Given the description of an element on the screen output the (x, y) to click on. 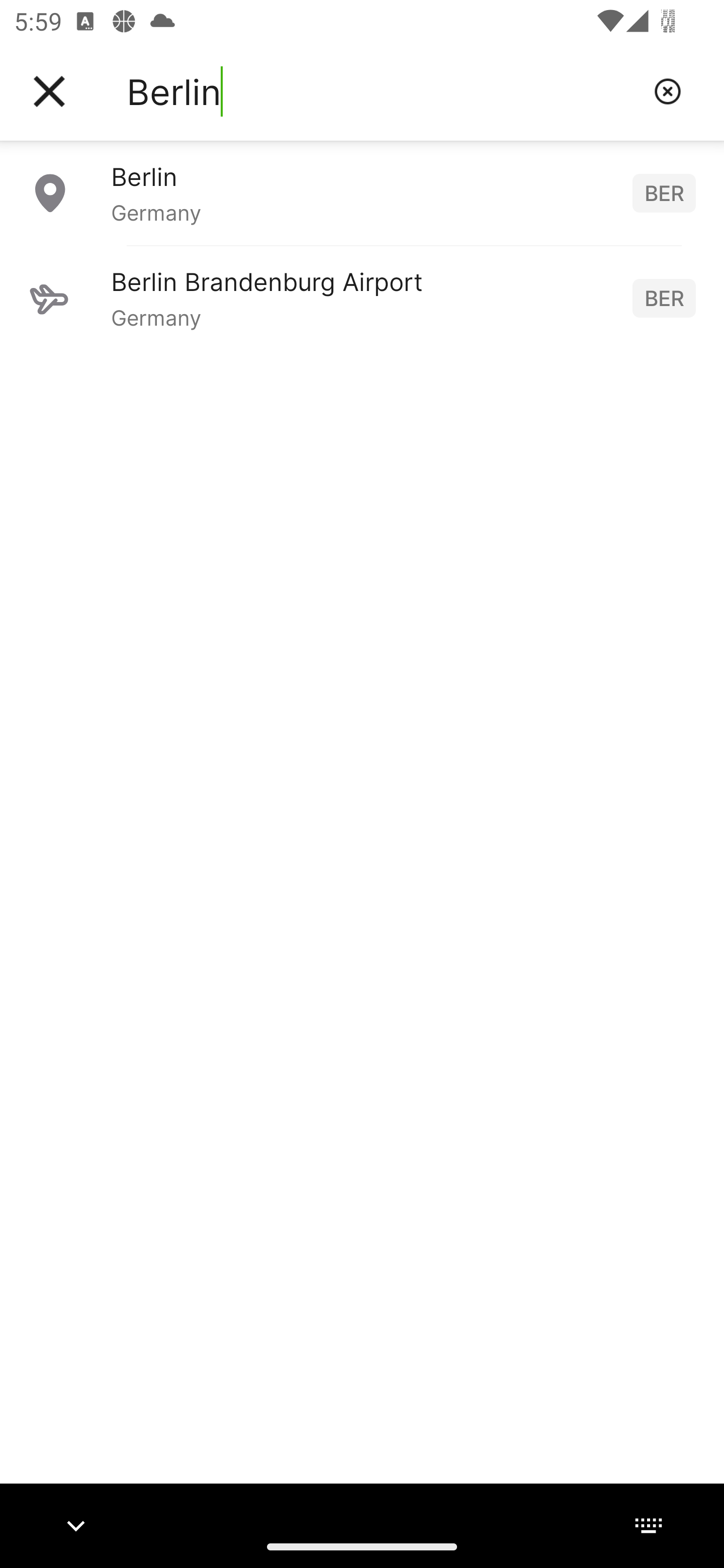
Berlin (382, 91)
Berlin Germany BER (362, 192)
Berlin Brandenburg Airport Germany BER (362, 297)
